Given the description of an element on the screen output the (x, y) to click on. 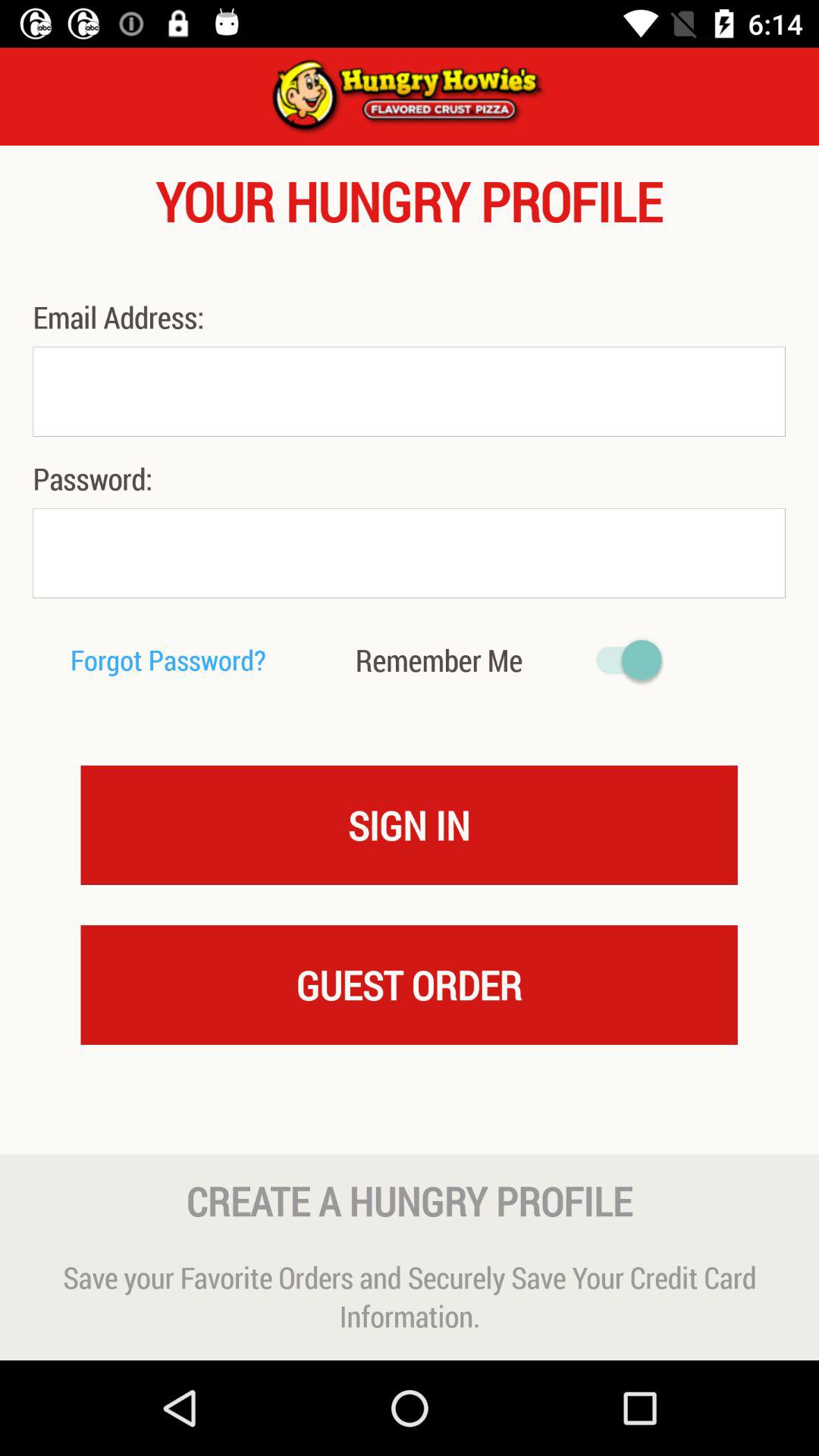
choose the password: icon (122, 478)
